Given the description of an element on the screen output the (x, y) to click on. 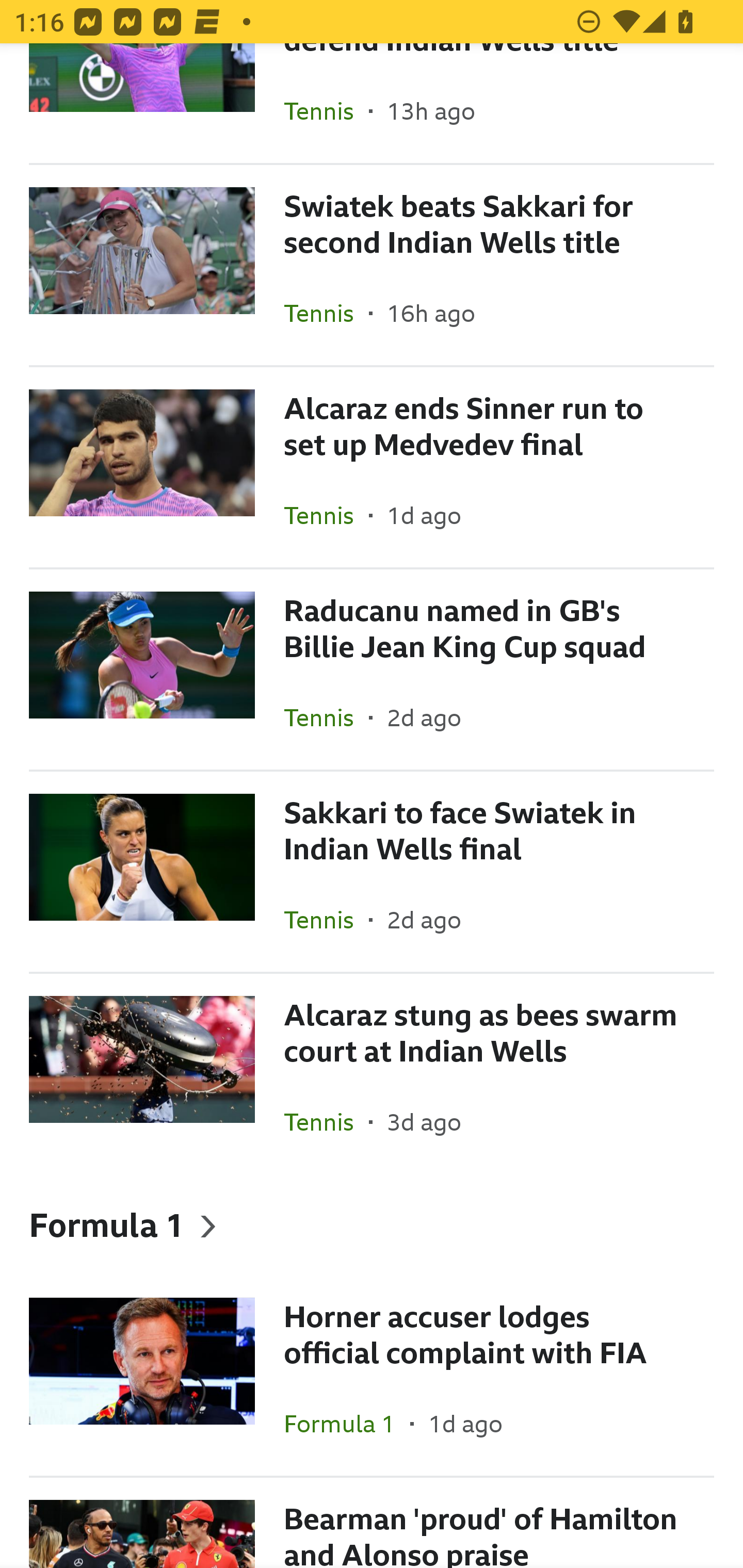
Formula 1, Heading Formula 1    (371, 1224)
Bearman 'proud' of Hamilton and Alonso praise (371, 1522)
